Given the description of an element on the screen output the (x, y) to click on. 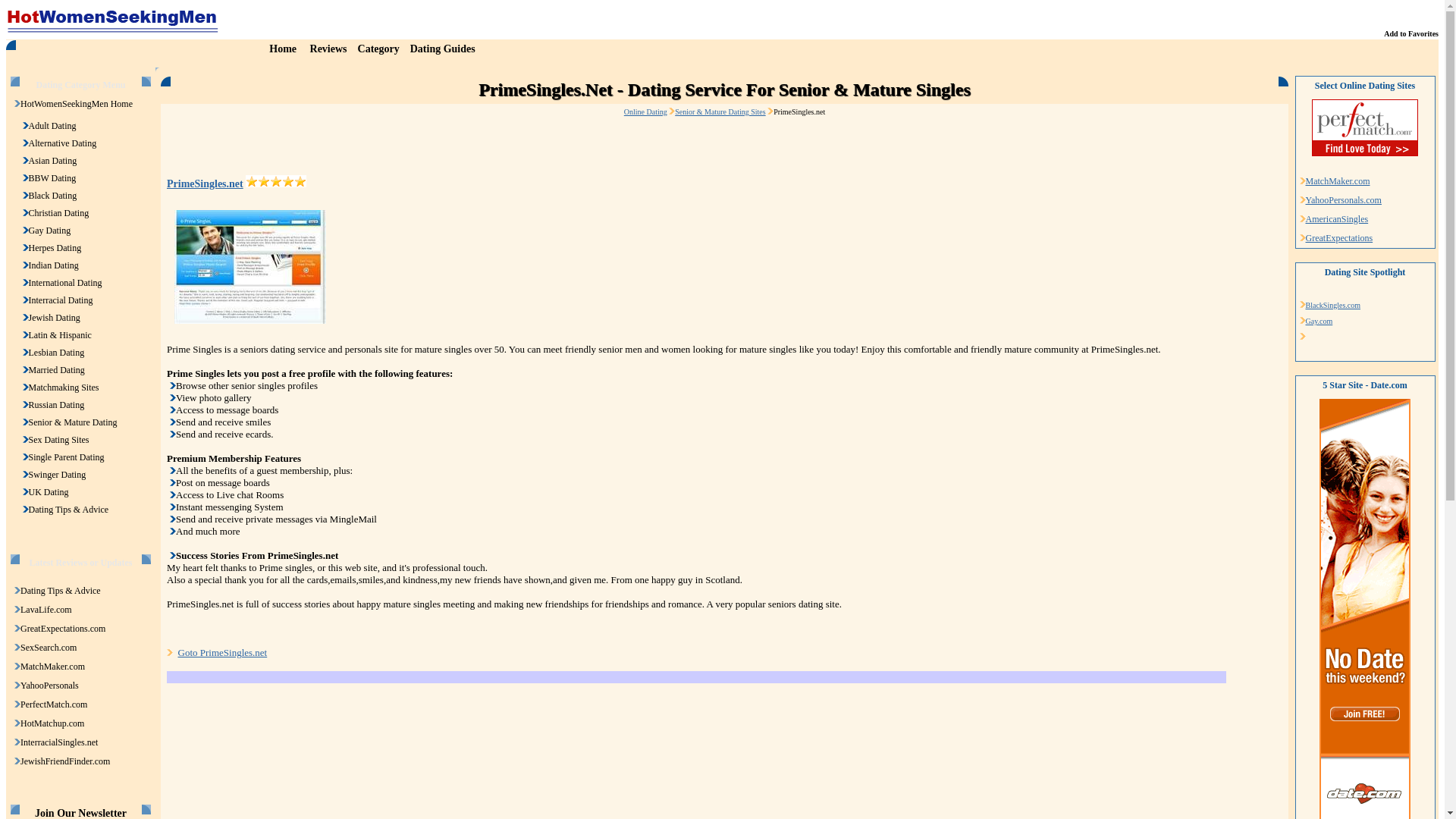
MatchMaker.com (52, 665)
InterracialSingles.net (58, 742)
SexSearch.com (48, 647)
Goto PrimeSingles Senior Dating Service (221, 652)
BBW Dating (53, 177)
HotWomenSeekingMen (76, 103)
Sex Dating Sites (58, 439)
Married Dating (56, 369)
PerfectMatch.com (53, 704)
Black Dating (53, 195)
Home (283, 48)
Adult Dating (53, 125)
YahooPersonals (49, 685)
HotWomenSeekingMen Home (76, 103)
Dating Guides (443, 48)
